Given the description of an element on the screen output the (x, y) to click on. 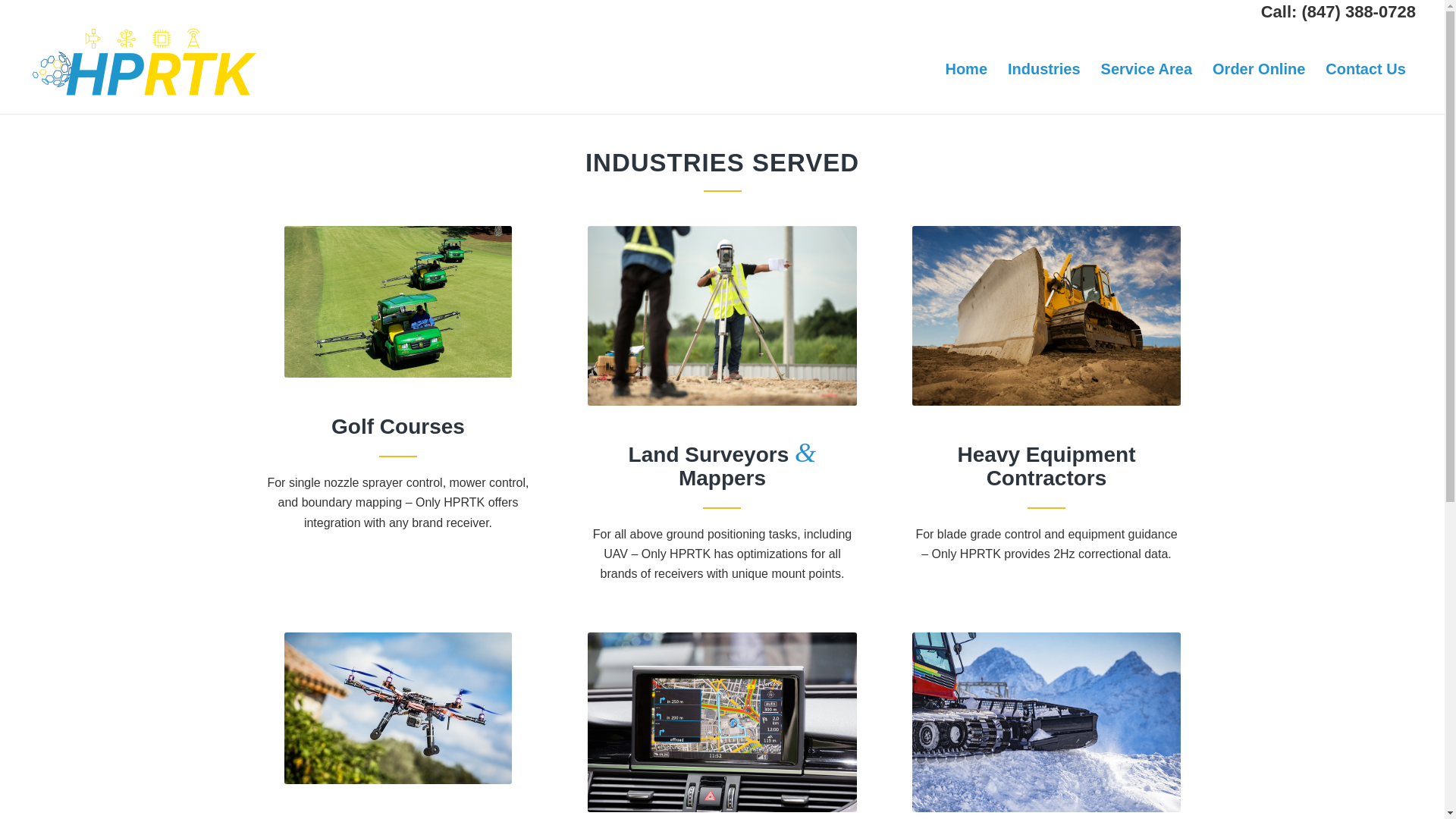
Contact Us (1364, 68)
My Post-2 (397, 301)
Car navigation (722, 722)
Heavy Equipment Contractors (1046, 315)
Industries (1043, 68)
Ski Resorts (1046, 722)
Drone (397, 707)
survey 900x600 (722, 315)
Order Online (1258, 68)
Service Area (1146, 68)
